Given the description of an element on the screen output the (x, y) to click on. 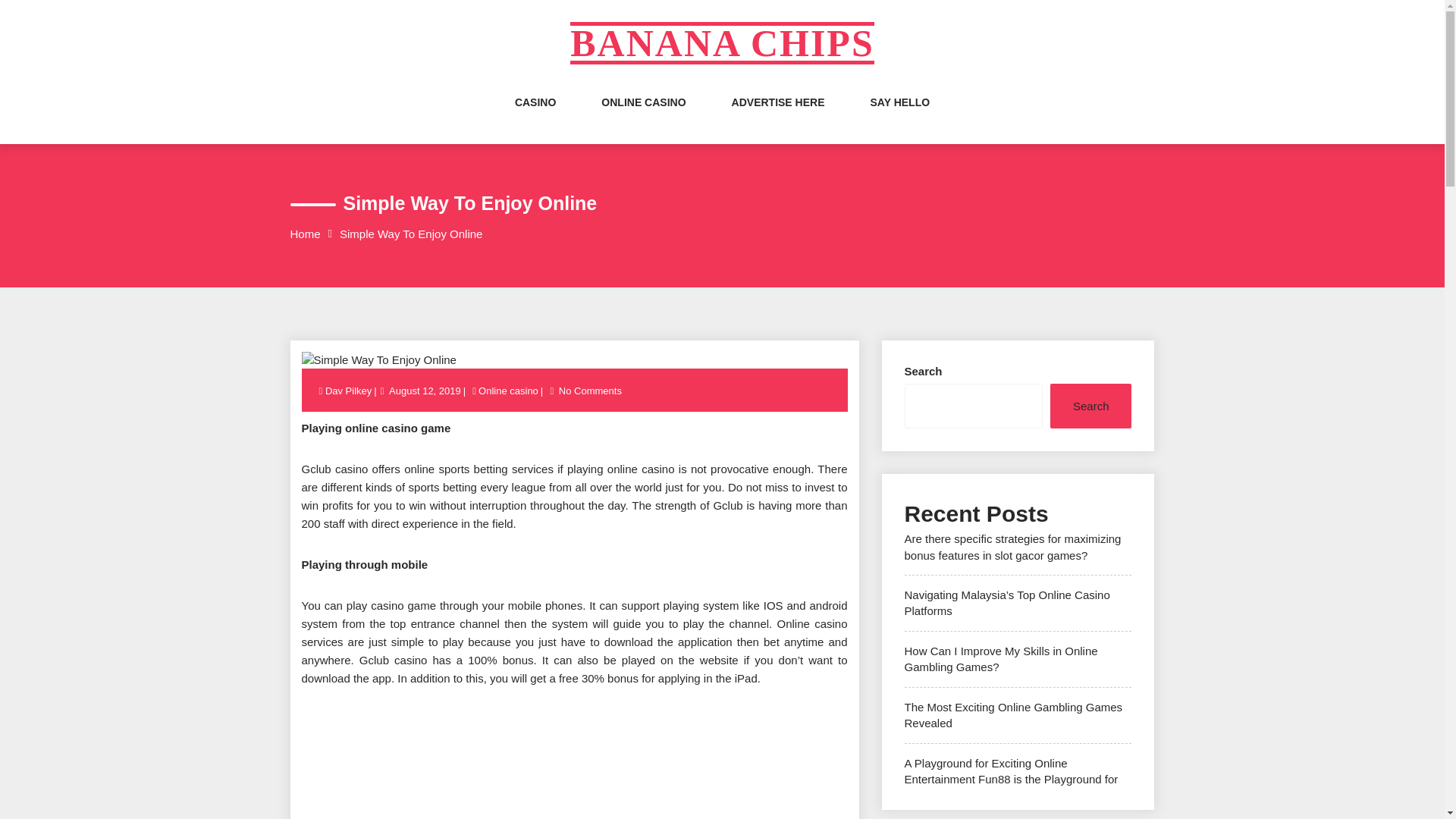
Home (304, 233)
ONLINE CASINO (643, 117)
The Most Exciting Online Gambling Games Revealed (1013, 715)
How Can I Improve My Skills in Online Gambling Games? (1000, 658)
CASINO (535, 117)
SAY HELLO (900, 117)
Online casino (508, 390)
ADVERTISE HERE (778, 117)
No Comments (590, 390)
Search (1090, 406)
August 12, 2019 (425, 390)
Dav Pilkey (349, 390)
BANANA CHIPS (721, 43)
